Given the description of an element on the screen output the (x, y) to click on. 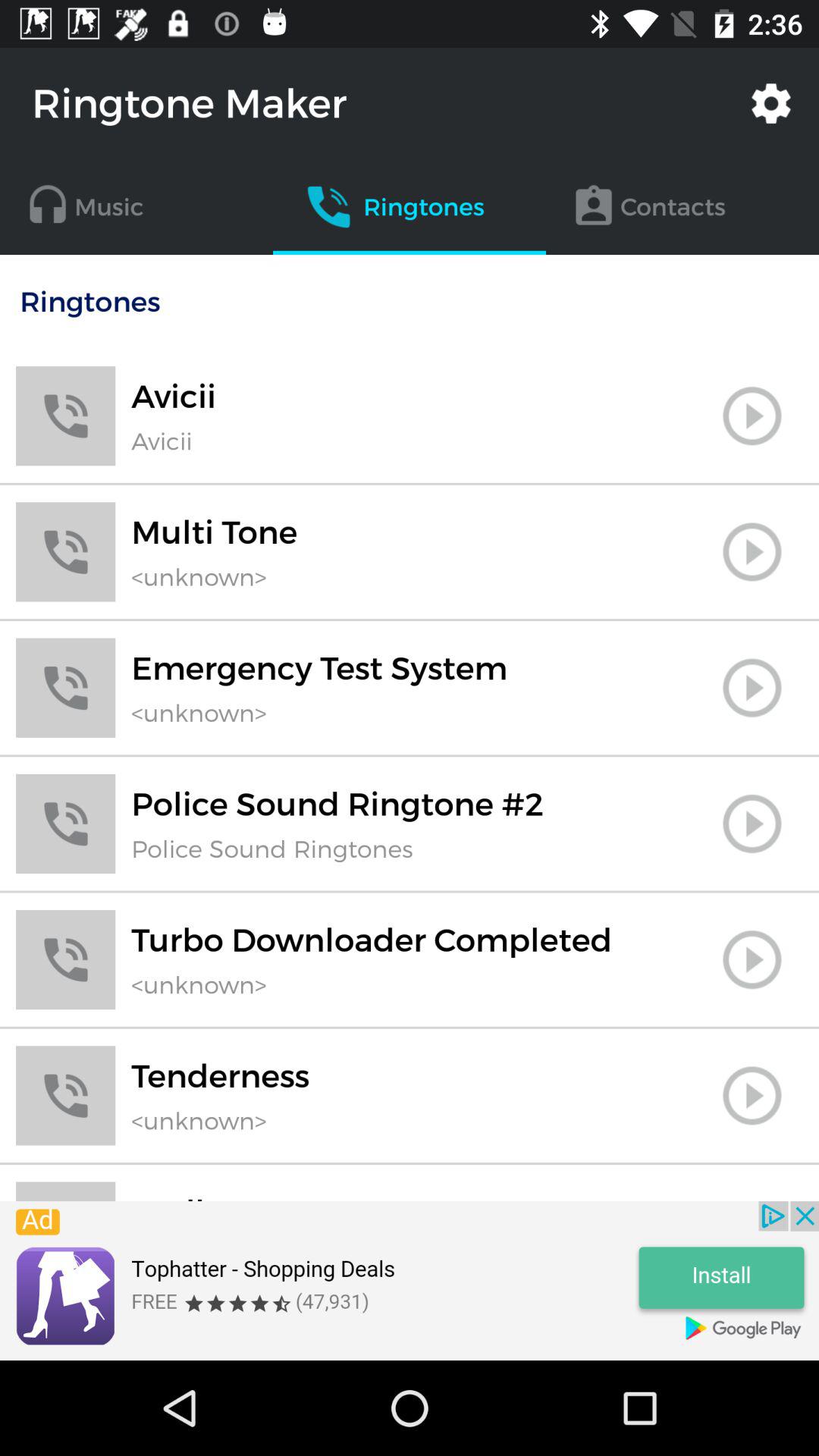
go to advertisement (409, 1280)
